Given the description of an element on the screen output the (x, y) to click on. 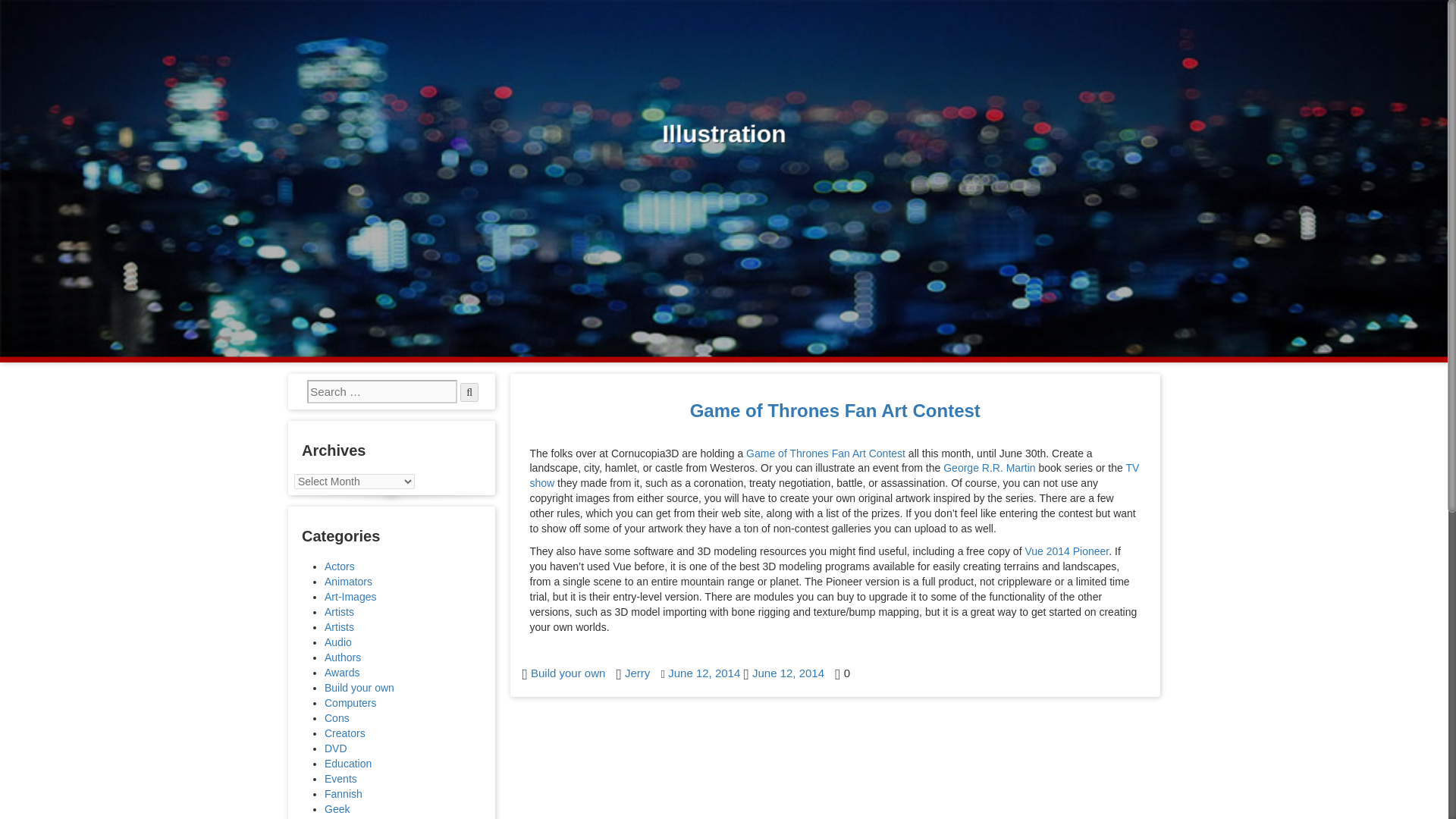
Computers (349, 702)
June 12, 2014 (703, 672)
Jerry (636, 672)
Animators (348, 581)
Artists (338, 626)
Game of Thrones Fan Art Contest (834, 410)
Geek (336, 808)
TV show (833, 474)
DVD (335, 748)
Cons (336, 717)
June 12, 2014 (788, 672)
Fannish (343, 793)
Education (347, 763)
Vue 2014 Pioneer (1066, 551)
